Given the description of an element on the screen output the (x, y) to click on. 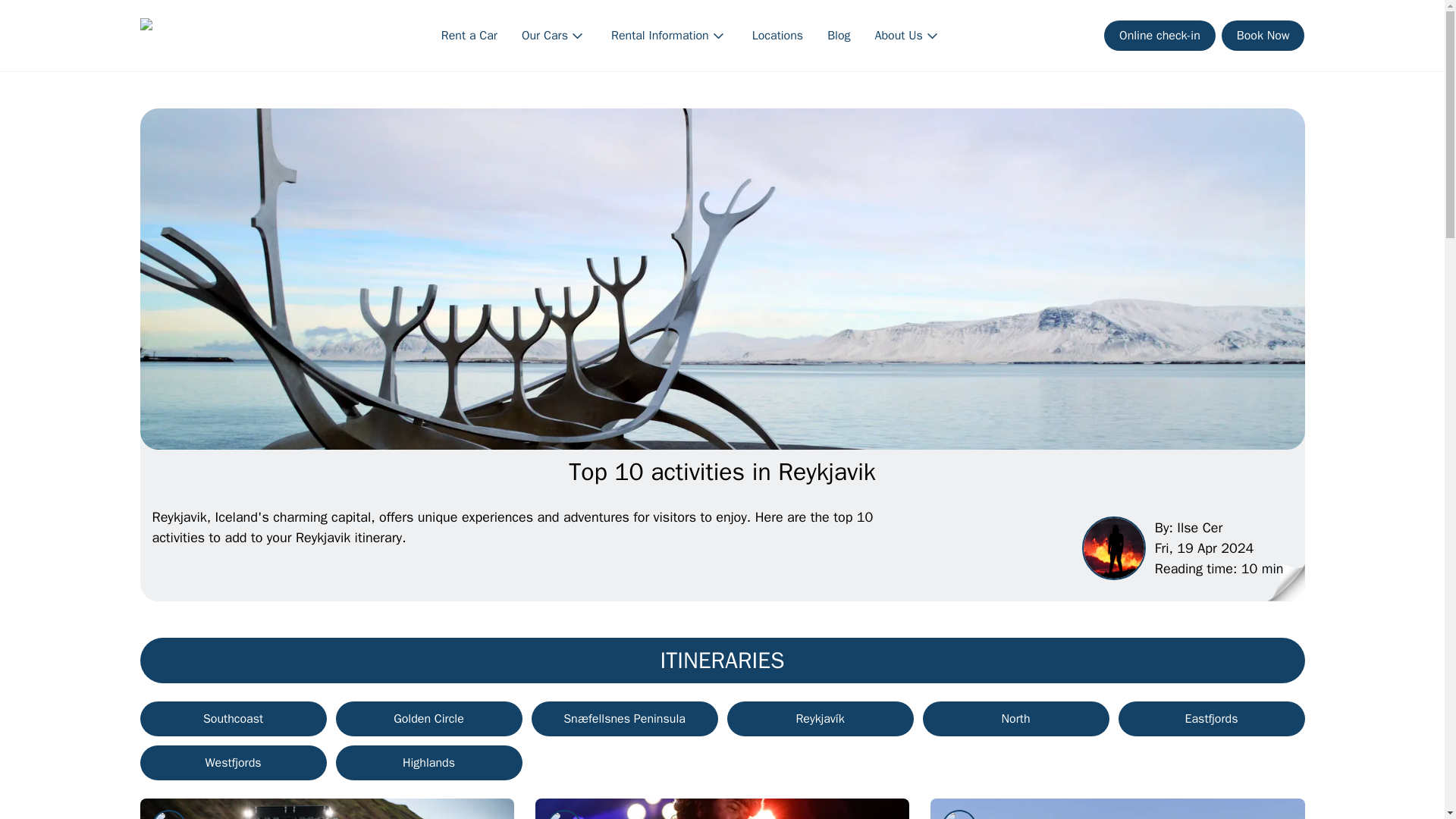
Westfjords (232, 762)
Eastfjords (1211, 718)
Our Cars (553, 35)
Highlands (427, 762)
North (1014, 718)
Locations (777, 35)
Book Now (1262, 35)
Southcoast (232, 718)
